Given the description of an element on the screen output the (x, y) to click on. 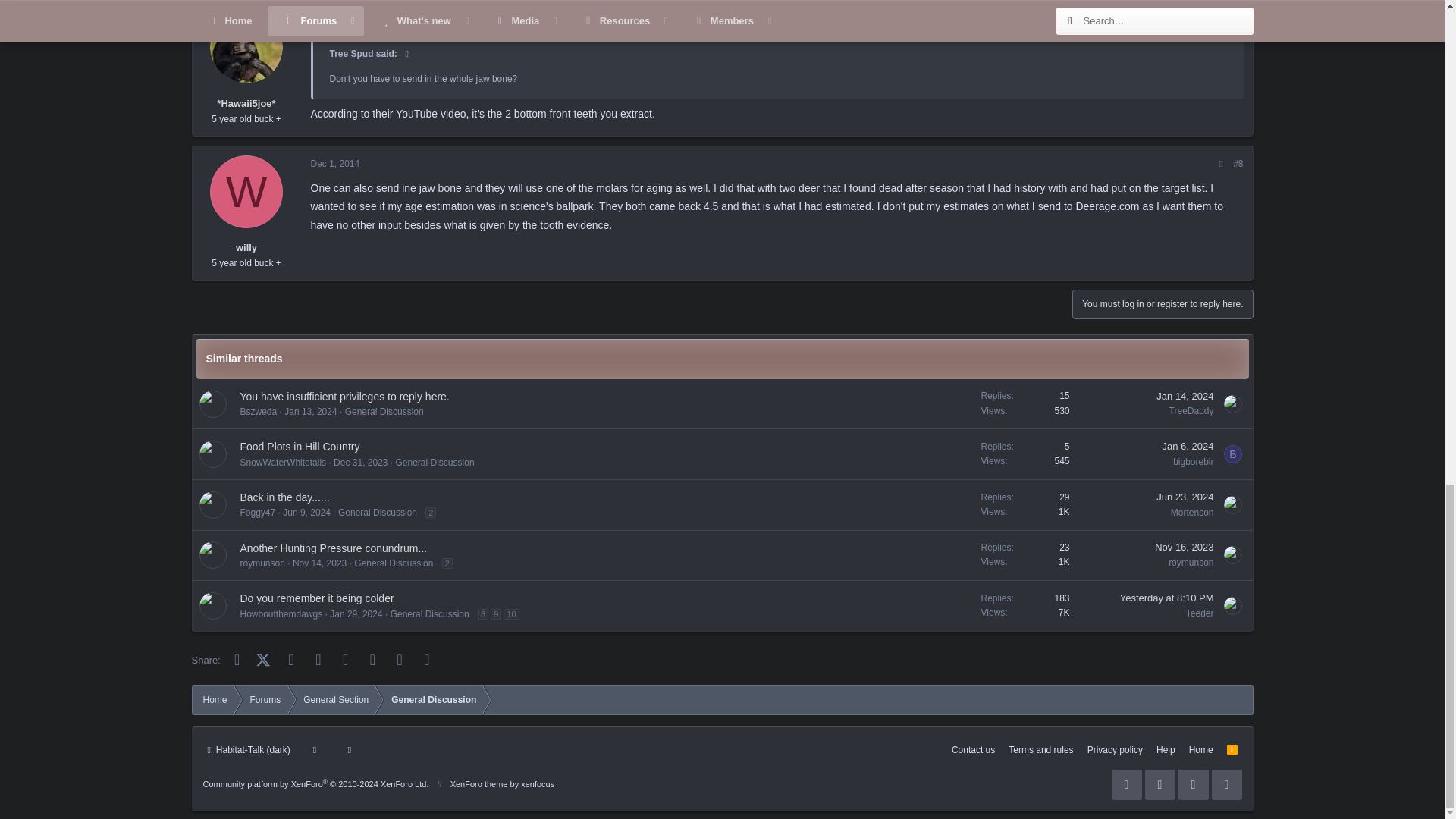
Jan 14, 2024 at 10:13 AM (1184, 396)
Dec 31, 2023 at 9:18 AM (360, 462)
Jan 13, 2024 at 6:18 AM (309, 411)
Dec 1, 2014 at 9:00 AM (335, 163)
Nov 27, 2014 at 9:46 PM (338, 18)
First message reaction score: 1 (1024, 403)
